Given the description of an element on the screen output the (x, y) to click on. 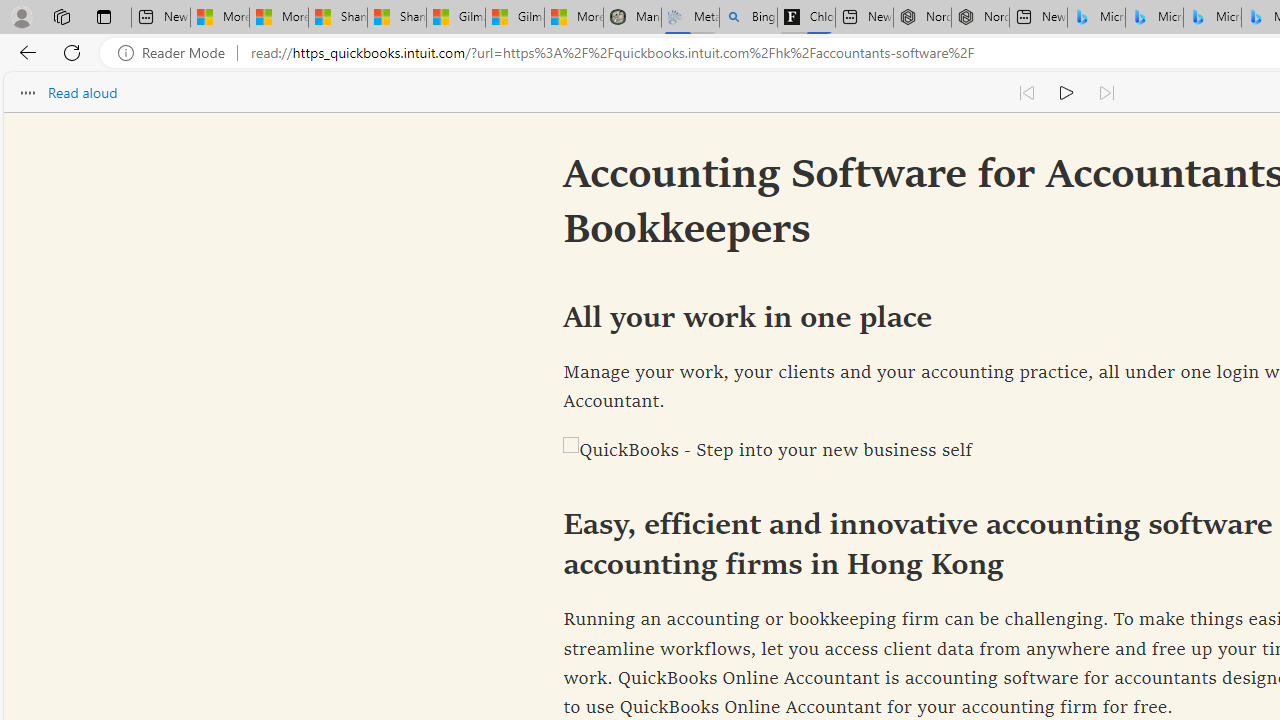
Bing Real Estate - Home sales and rental listings (747, 17)
Gilma and Hector both pose tropical trouble for Hawaii (514, 17)
Read next paragraph (1105, 92)
Microsoft Bing Travel - Shangri-La Hotel Bangkok (1212, 17)
Microsoft Bing Travel - Stays in Bangkok, Bangkok, Thailand (1154, 17)
Read previous paragraph (1026, 92)
Chloe Sorvino (806, 17)
Shanghai, China weather forecast | Microsoft Weather (396, 17)
Nordace - #1 Japanese Best-Seller - Siena Smart Backpack (980, 17)
